Given the description of an element on the screen output the (x, y) to click on. 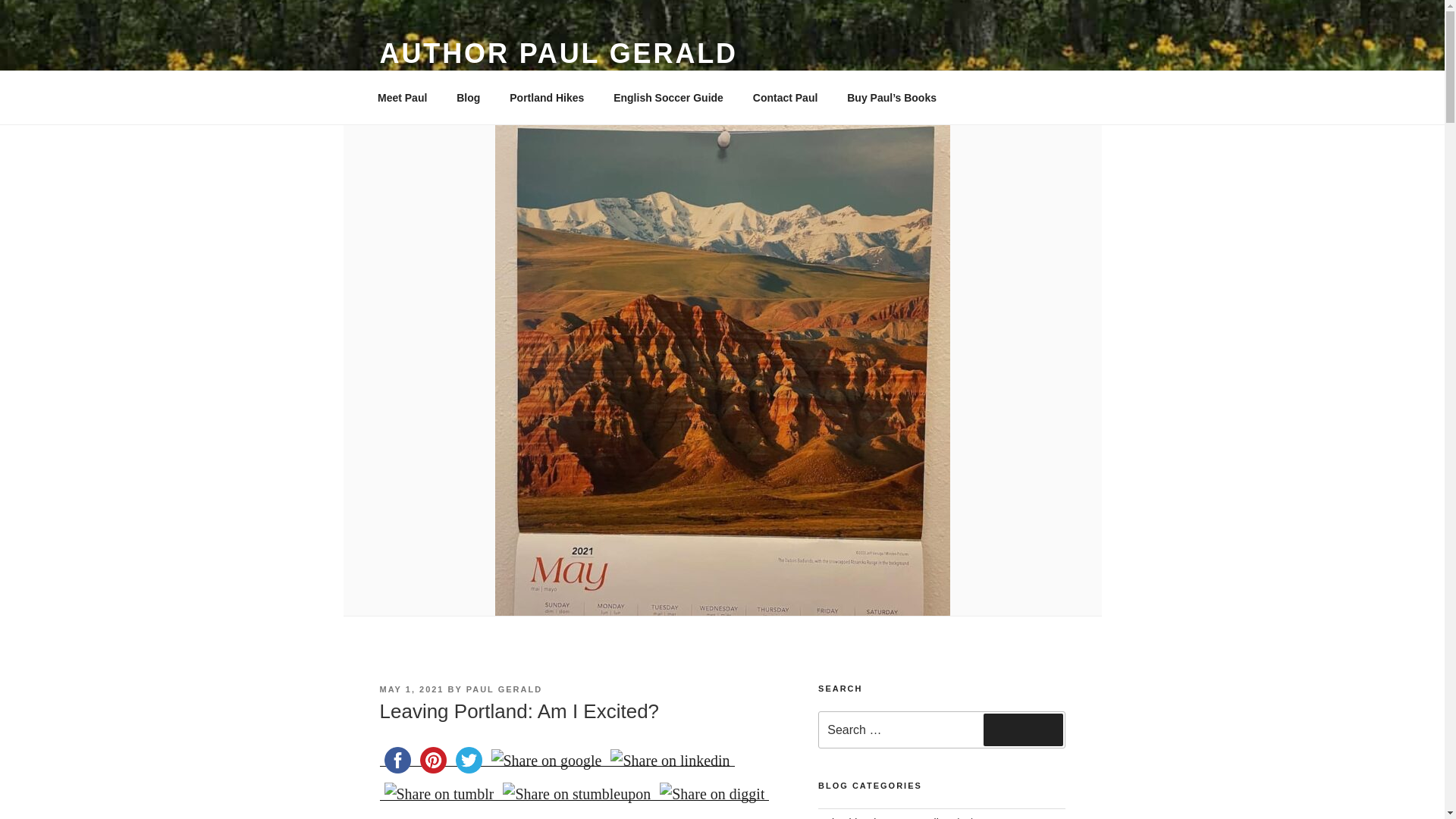
facebook (396, 760)
English Soccer Guide (667, 97)
google (546, 760)
MAY 1, 2021 (411, 688)
Blog (468, 97)
Meet Paul (401, 97)
pinterest (432, 760)
tumblr (437, 793)
stumbleupon (576, 793)
linkedin (669, 760)
